Given the description of an element on the screen output the (x, y) to click on. 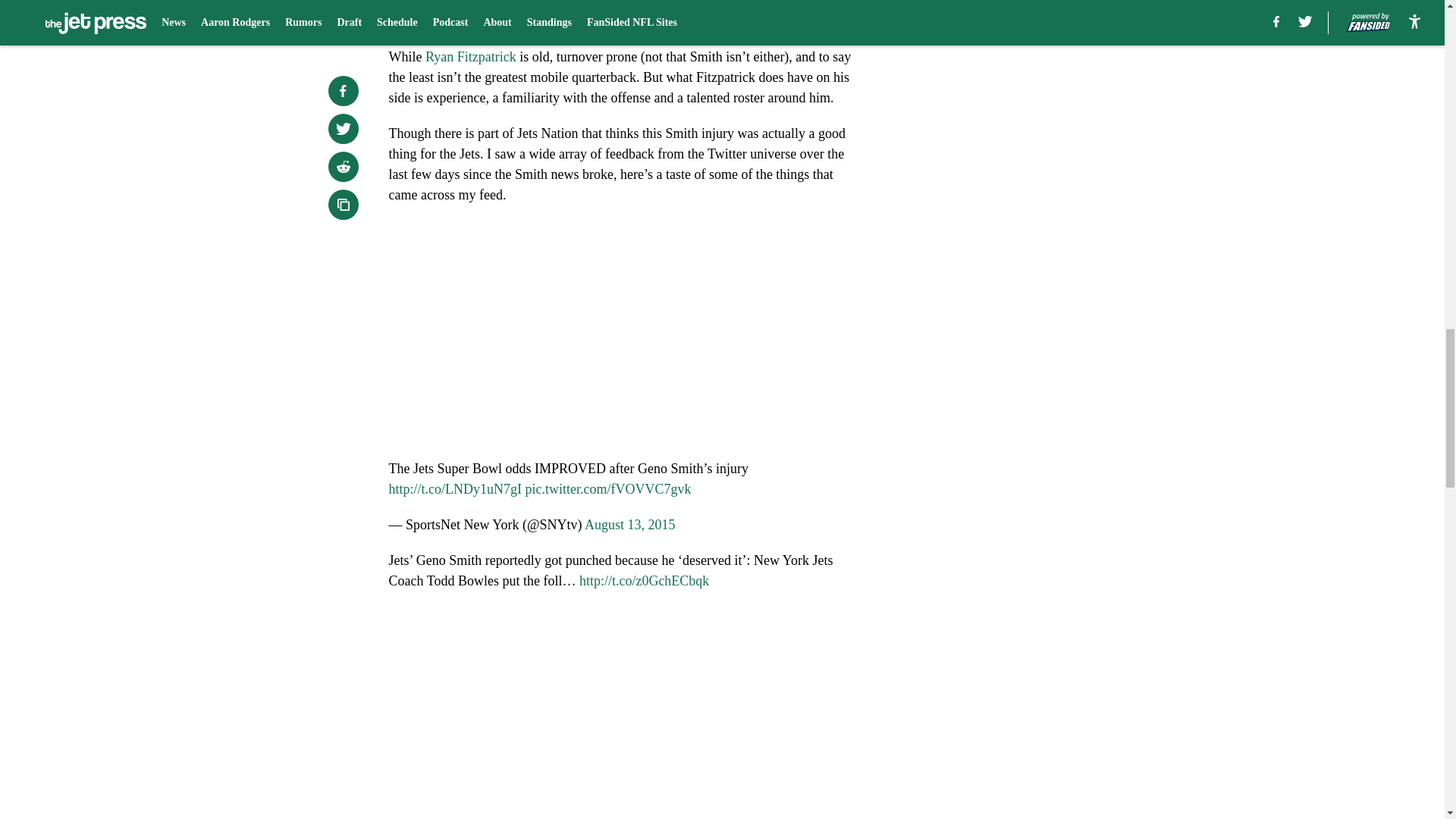
NY Jets should try to sign Kenny Golladay in free agency (561, 20)
NY Jets: Why the team should not cut Jamison Crowder (556, 4)
August 13, 2015 (630, 524)
Ryan Fitzpatrick (470, 56)
